Given the description of an element on the screen output the (x, y) to click on. 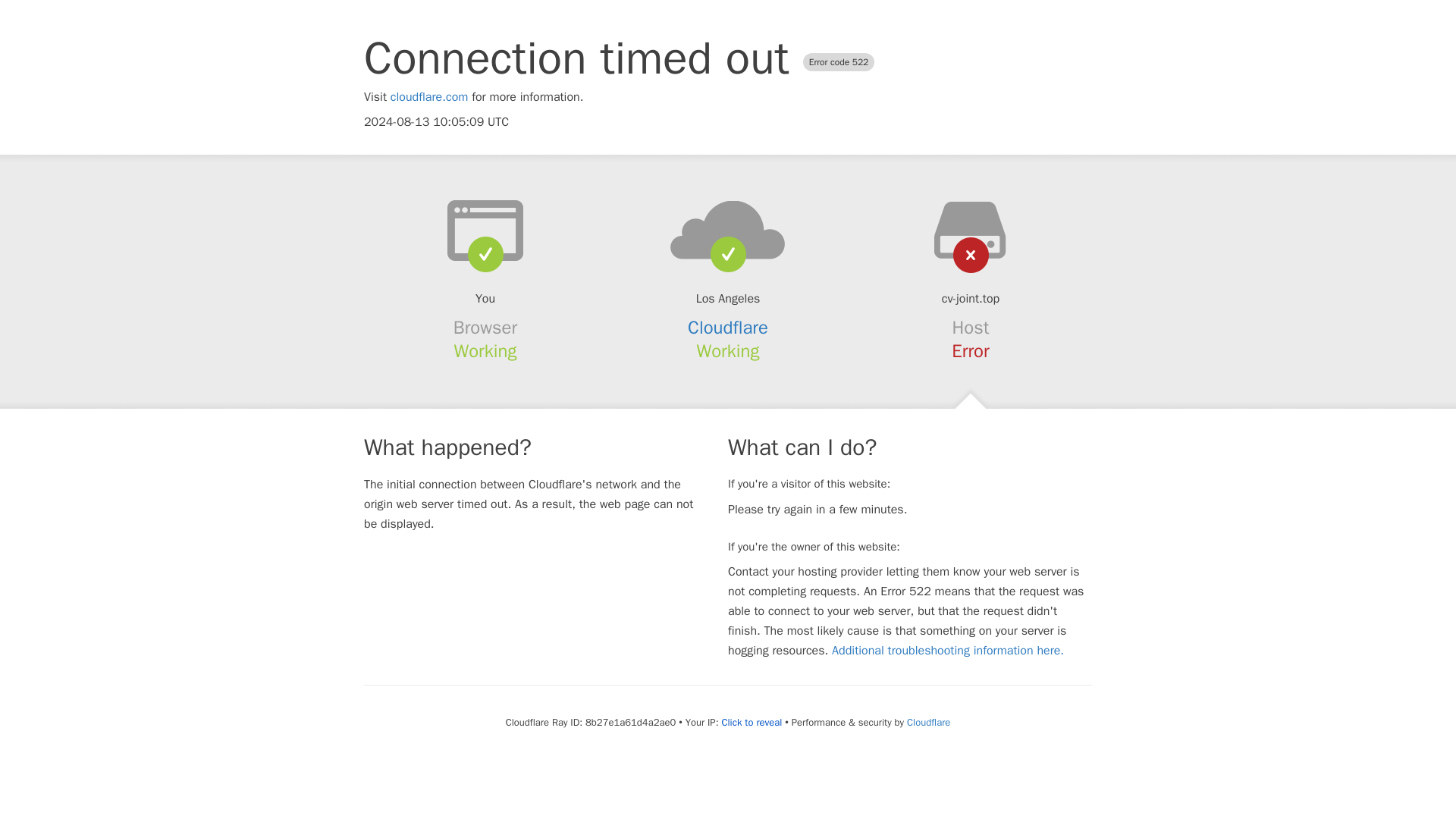
Cloudflare (727, 327)
cloudflare.com (429, 96)
Click to reveal (750, 722)
Cloudflare (928, 721)
Additional troubleshooting information here. (947, 650)
